Given the description of an element on the screen output the (x, y) to click on. 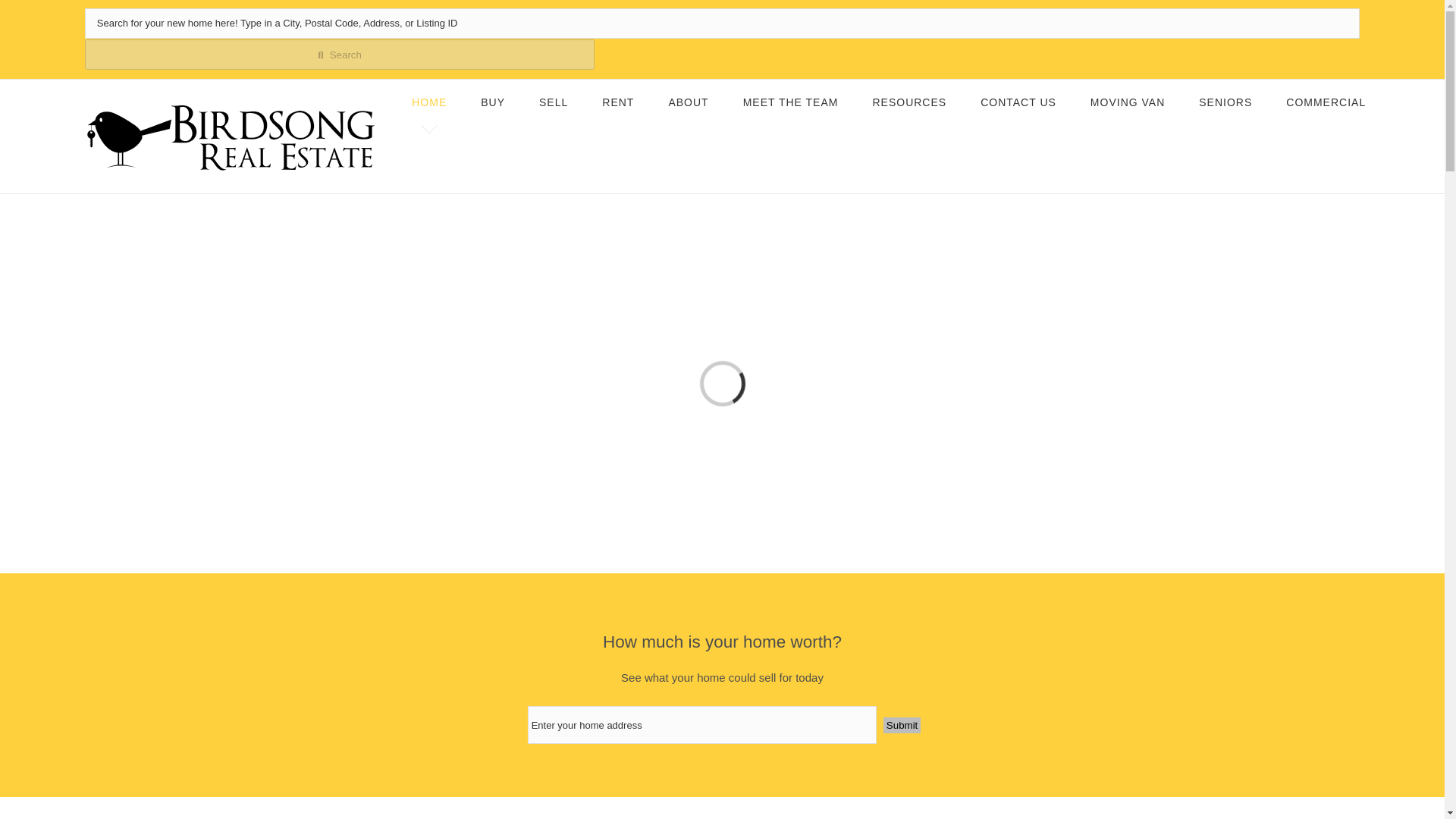
RESOURCES (909, 102)
Submit (901, 725)
COMMERCIAL (1325, 102)
CONTACT US (1018, 102)
Search (339, 54)
MOVING VAN (1127, 102)
MEET THE TEAM (790, 102)
SENIORS (1225, 102)
Submit (901, 725)
